Given the description of an element on the screen output the (x, y) to click on. 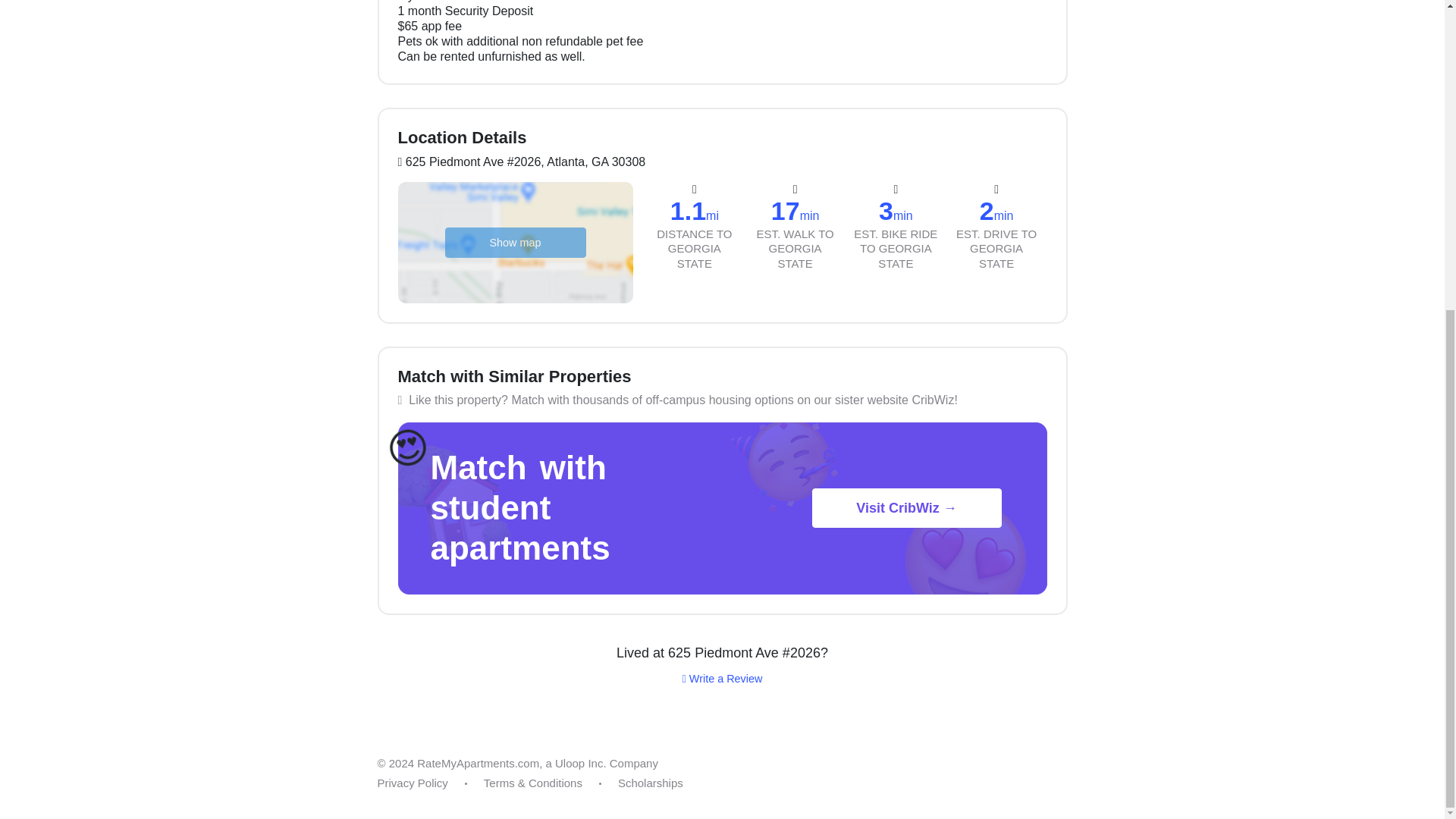
Privacy Policy (412, 782)
RateMyApartments.com (477, 762)
Show map (514, 241)
Scholarships (649, 782)
